Given the description of an element on the screen output the (x, y) to click on. 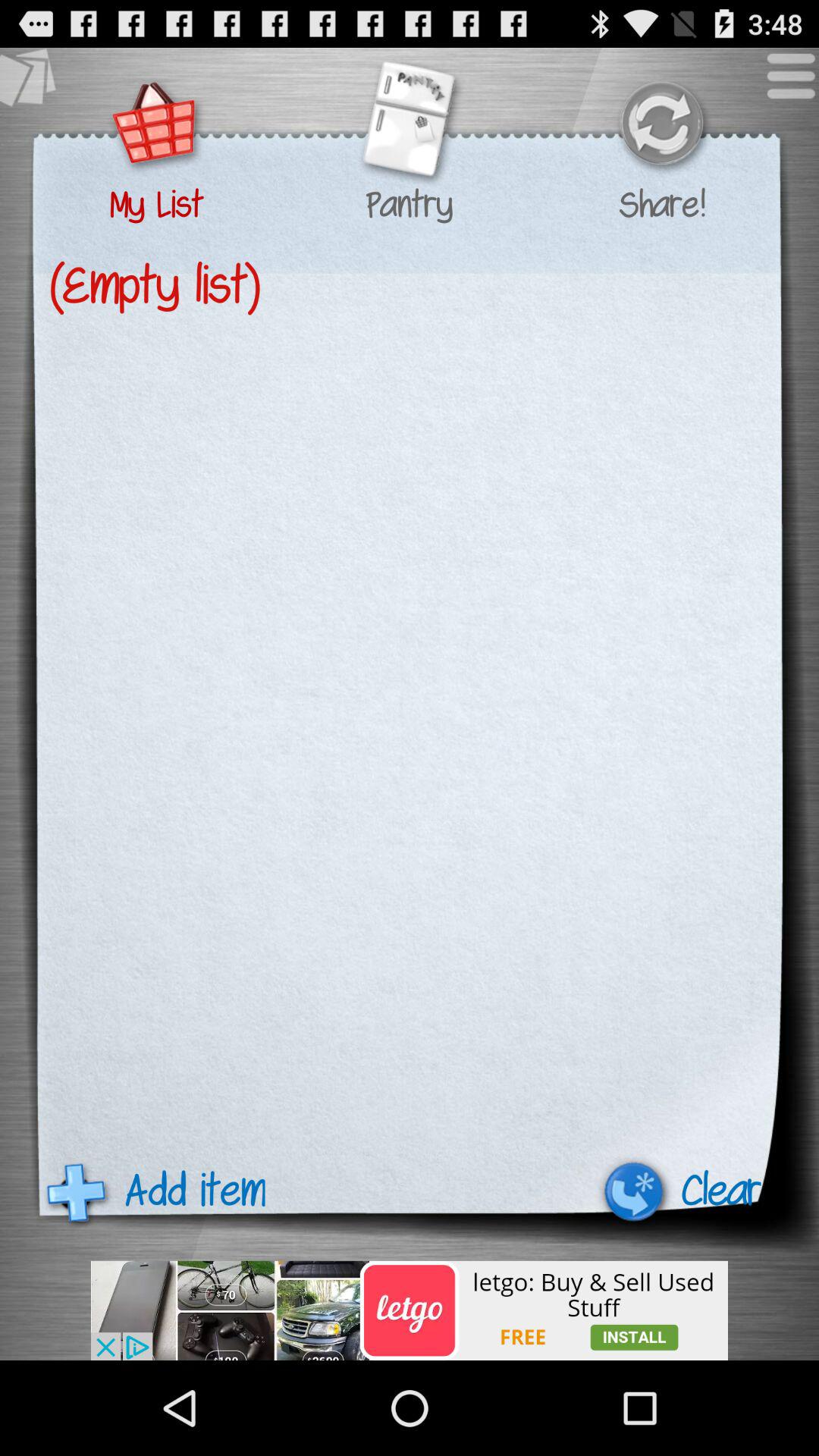
share (661, 125)
